Given the description of an element on the screen output the (x, y) to click on. 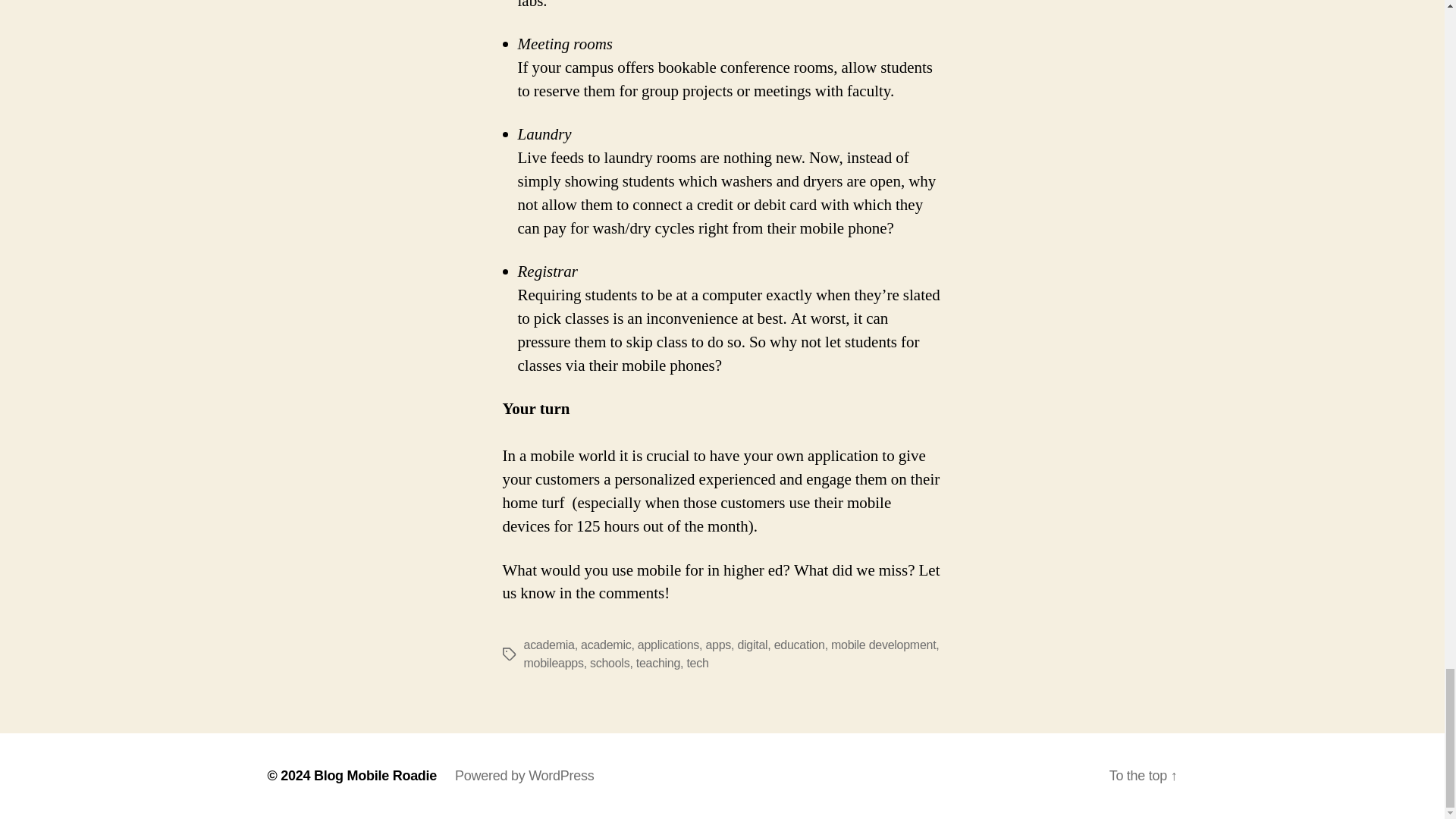
academia (547, 644)
applications (667, 644)
education (799, 644)
mobileapps (552, 662)
teaching (657, 662)
apps (717, 644)
Powered by WordPress (524, 775)
Blog Mobile Roadie (375, 775)
schools (608, 662)
digital (751, 644)
